Given the description of an element on the screen output the (x, y) to click on. 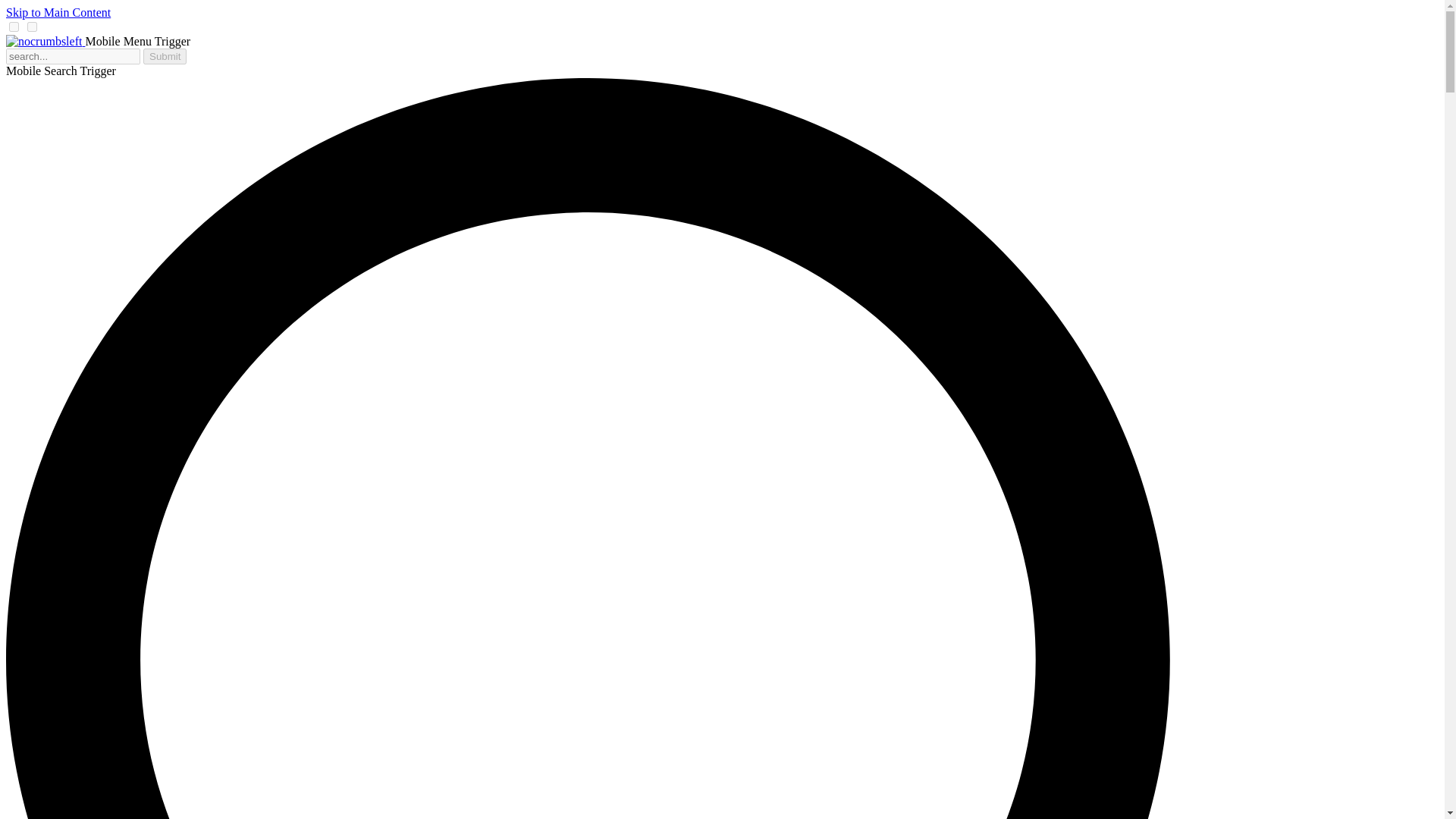
on (13, 26)
on (32, 26)
Submit (164, 56)
Skip to Main Content (57, 11)
